Given the description of an element on the screen output the (x, y) to click on. 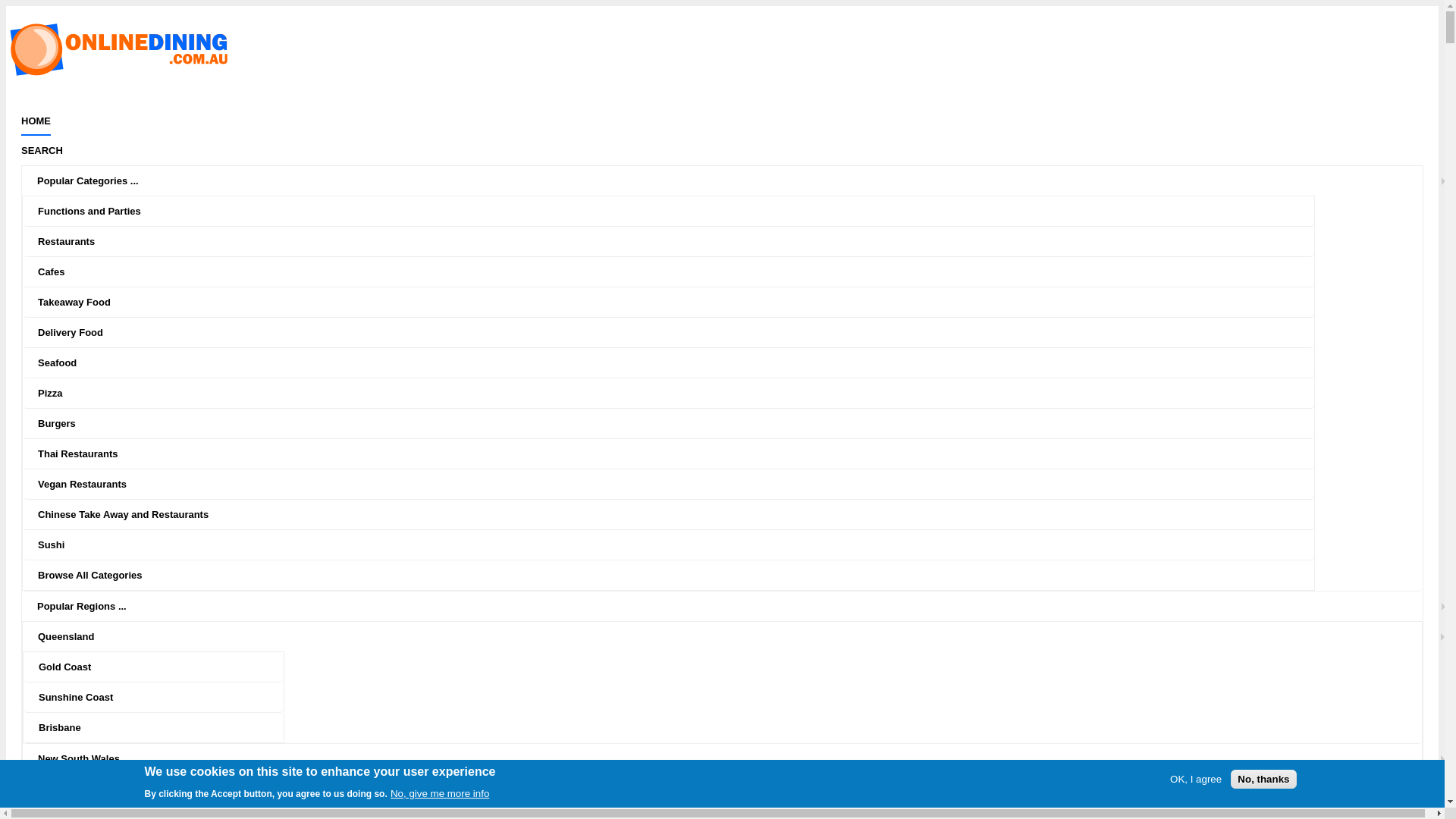
Pizza Element type: text (683, 392)
Thai Restaurants Element type: text (683, 453)
Vegan Restaurants Element type: text (683, 483)
OnlineDining.com.au Element type: hover (119, 73)
Browse All Categories Element type: text (683, 574)
Queensland Element type: text (737, 636)
Restaurants Element type: text (683, 241)
Takeaway Food Element type: text (683, 301)
Cafes Element type: text (683, 271)
HOME Element type: text (35, 120)
Delivery Food Element type: text (683, 332)
Chinese Take Away and Restaurants Element type: text (683, 514)
New South Wales Element type: text (737, 758)
Sydney Element type: text (71, 788)
Burgers Element type: text (683, 423)
Sunshine Coast Element type: text (168, 697)
Sushi Element type: text (683, 544)
OK, I agree Element type: text (1195, 778)
Functions and Parties Element type: text (683, 210)
Brisbane Element type: text (168, 727)
Popular Categories ... Element type: text (736, 180)
No, give me more info Element type: text (439, 793)
Seafood Element type: text (683, 362)
Gold Coast Element type: text (168, 666)
SEARCH Element type: text (722, 150)
Skip to main content Element type: text (57, 6)
No, thanks Element type: text (1262, 778)
Popular Regions ... Element type: text (736, 606)
